Given the description of an element on the screen output the (x, y) to click on. 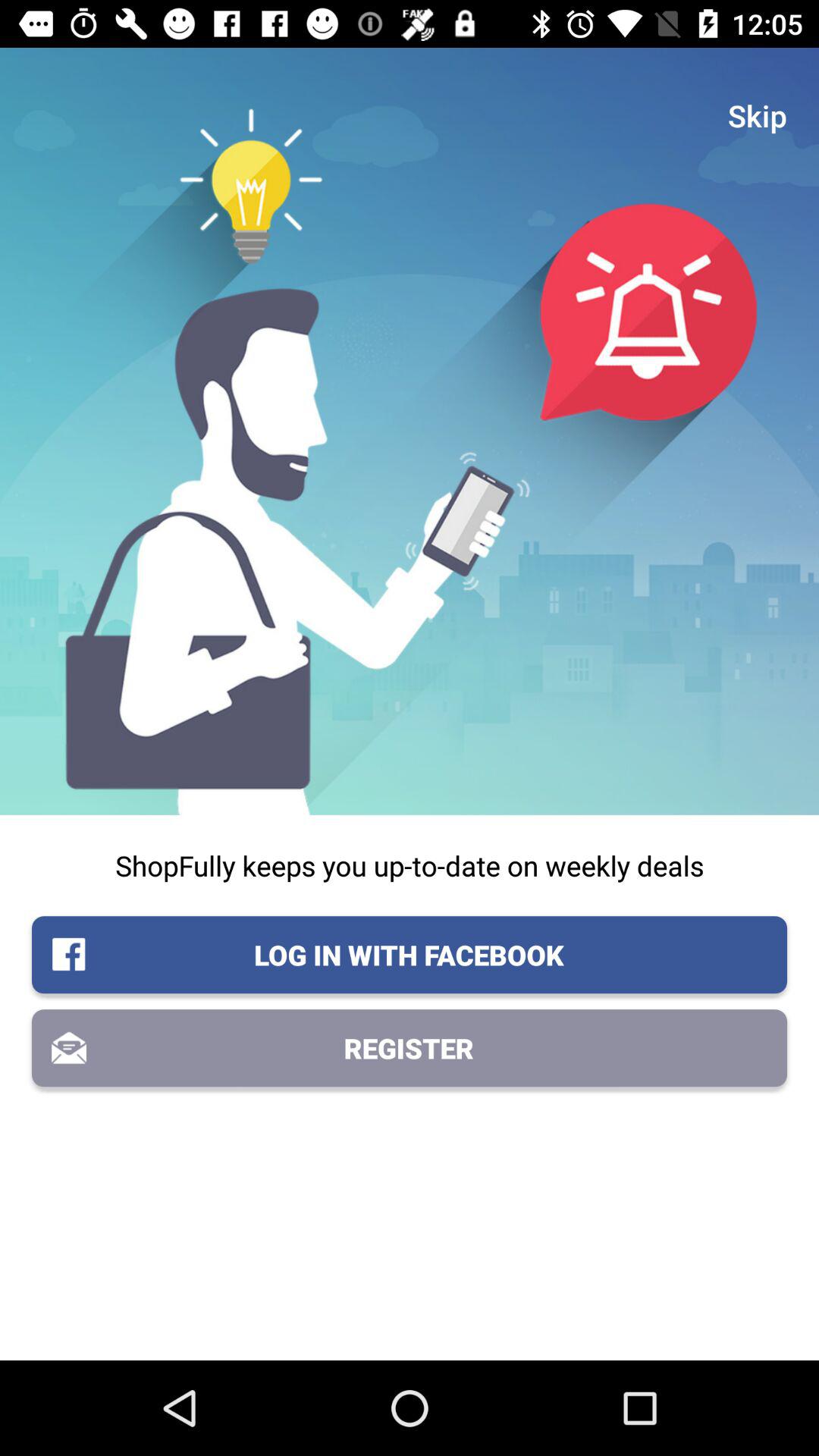
jump to the log in with item (409, 954)
